Given the description of an element on the screen output the (x, y) to click on. 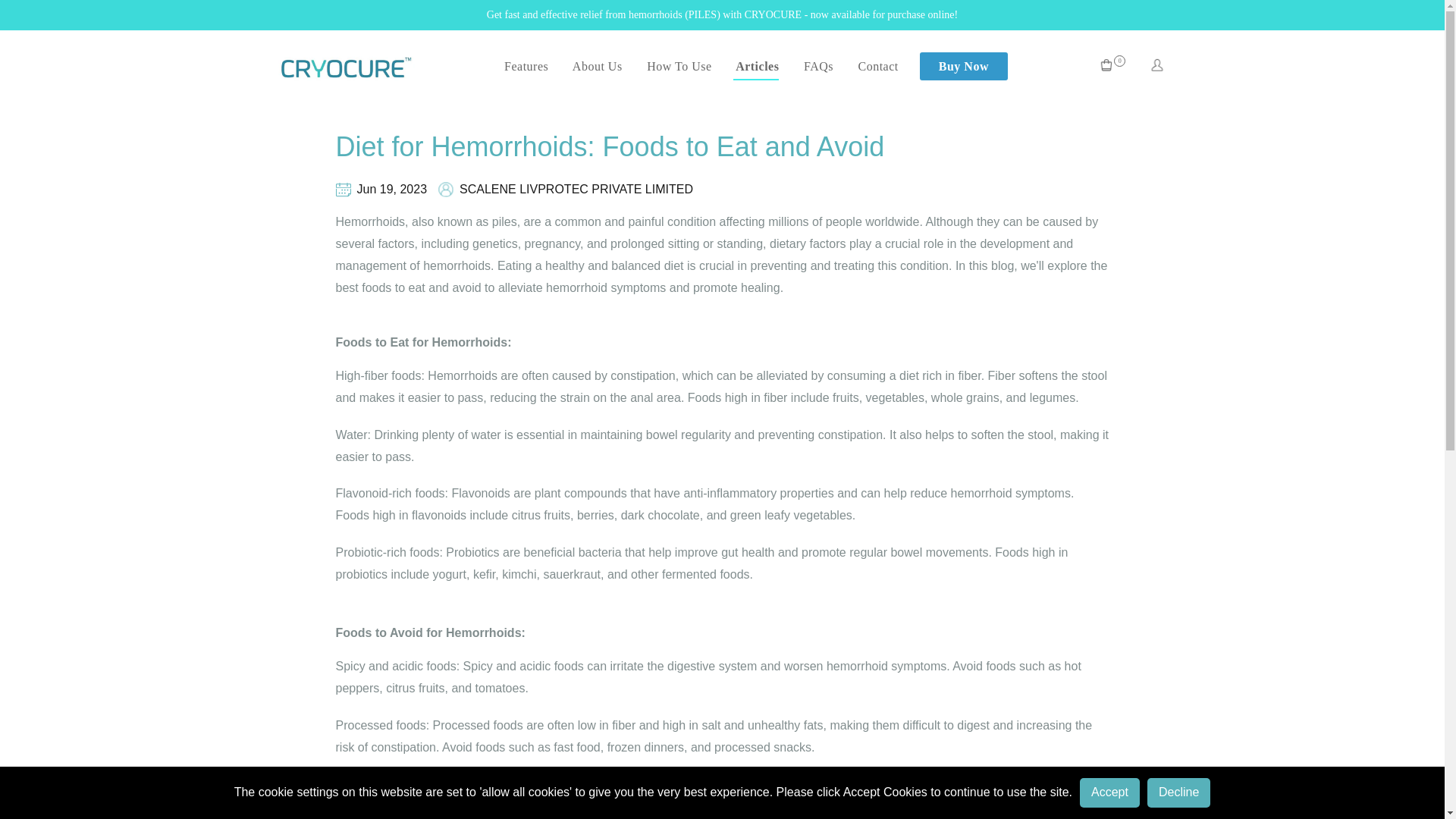
Features (525, 65)
How To Use (677, 65)
Decline (1178, 792)
0 (1112, 66)
Diet for Hemorrhoids: Foods to Eat and Avoid (608, 146)
FAQs (815, 65)
Buy Now (963, 66)
About Us (595, 65)
Contact (876, 65)
Accept (1110, 792)
Articles (755, 69)
